Given the description of an element on the screen output the (x, y) to click on. 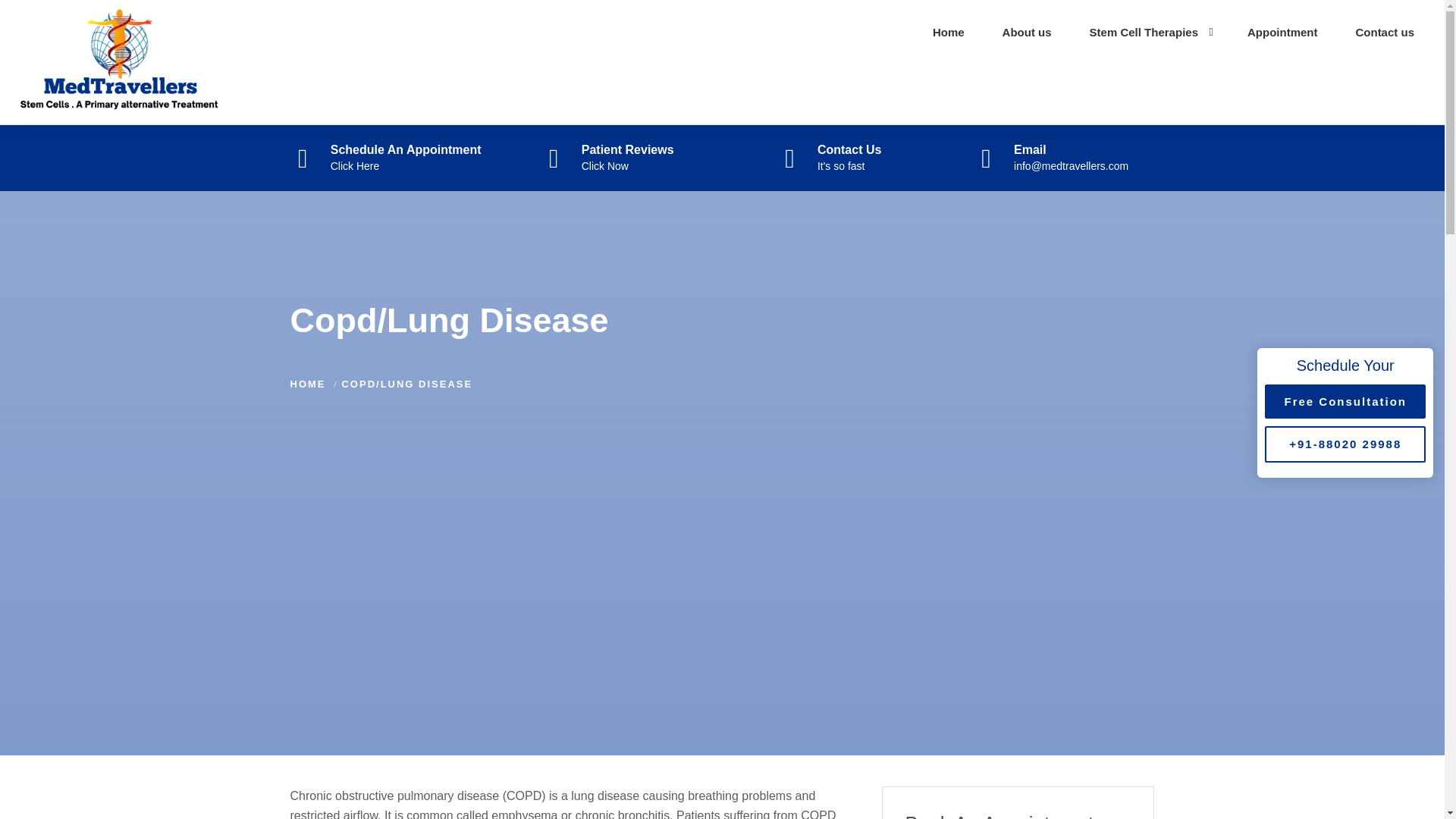
Contact us (1384, 32)
Home (949, 32)
About Us (1027, 32)
Stem Cell Therapies (1149, 32)
About us (611, 157)
Home (1027, 32)
Free Consultation (389, 157)
Contact us (949, 32)
Appointment (1345, 401)
